Given the description of an element on the screen output the (x, y) to click on. 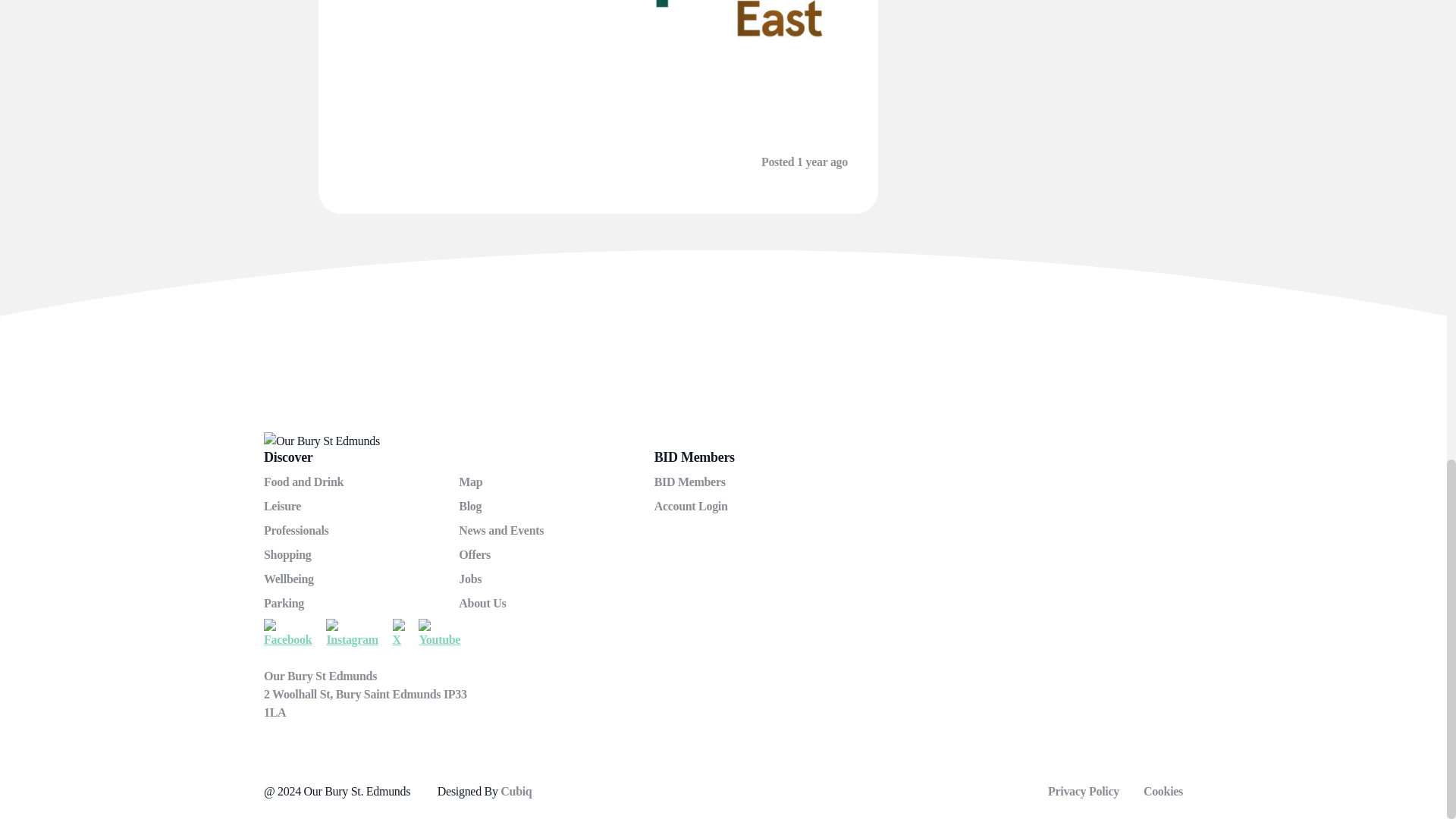
BID Members (689, 481)
Offers (474, 554)
Blog (469, 505)
Jobs (469, 578)
Shopping (287, 554)
Map (469, 481)
Wellbeing (288, 578)
Parking (283, 603)
News and Events (500, 530)
Account Login (690, 505)
Food and Drink (303, 481)
Leisure (282, 505)
Professionals (296, 530)
About Us (481, 603)
